Given the description of an element on the screen output the (x, y) to click on. 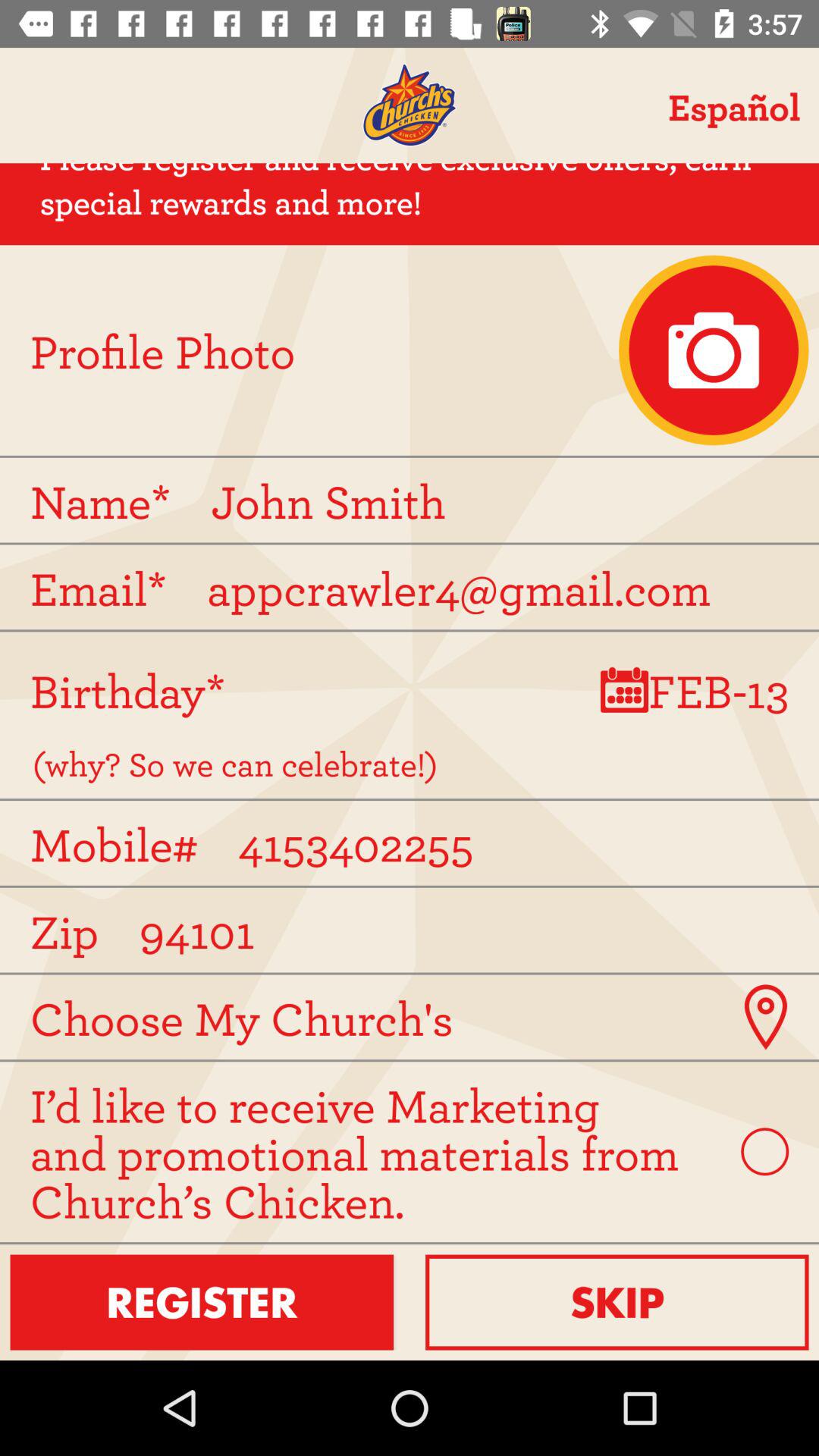
select the text which is at the top right corner of the page (734, 104)
click on the text field of zip (415, 930)
select the number which is next to the mobile (508, 842)
